Given the description of an element on the screen output the (x, y) to click on. 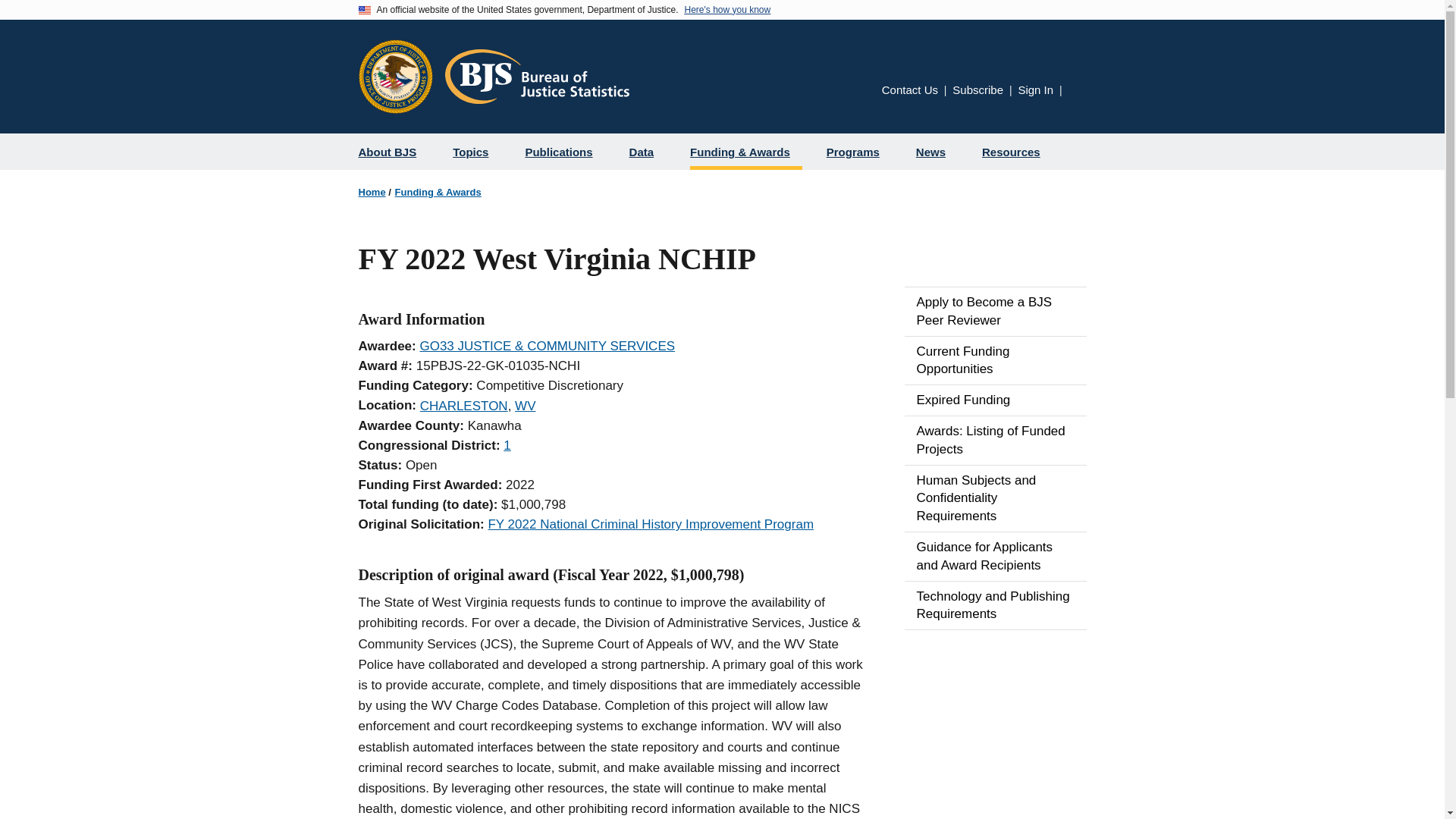
Current Funding Opportunities (995, 360)
Publications (563, 151)
WV (525, 405)
Office of Justice Programs (395, 76)
Subscribe (977, 89)
Apply to Become a BJS Peer Reviewer (995, 311)
Contact Us (909, 89)
Resources (1016, 151)
Sign In (1034, 89)
Share (1076, 92)
